Given the description of an element on the screen output the (x, y) to click on. 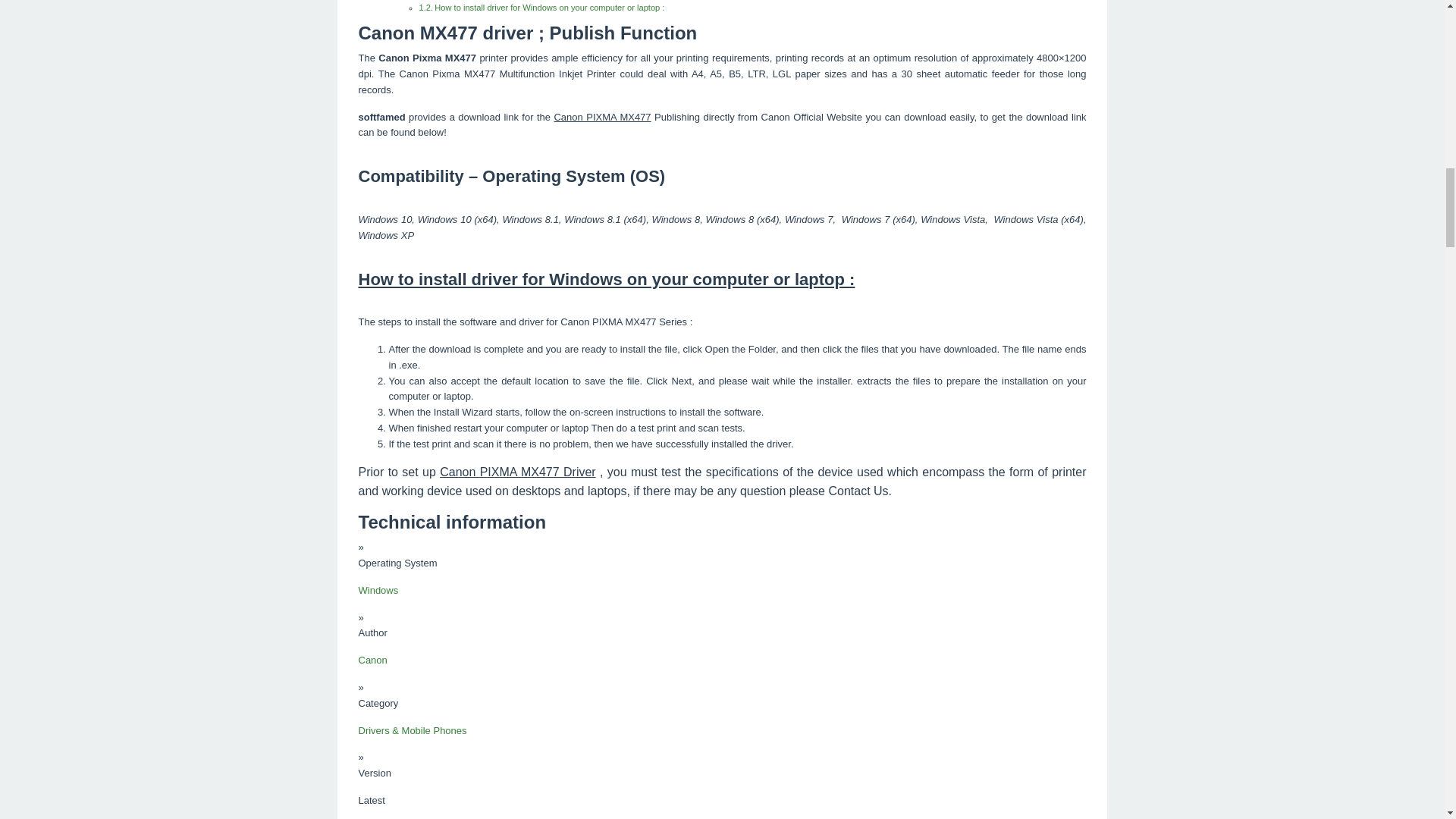
Windows (377, 590)
Canon (372, 659)
